Given the description of an element on the screen output the (x, y) to click on. 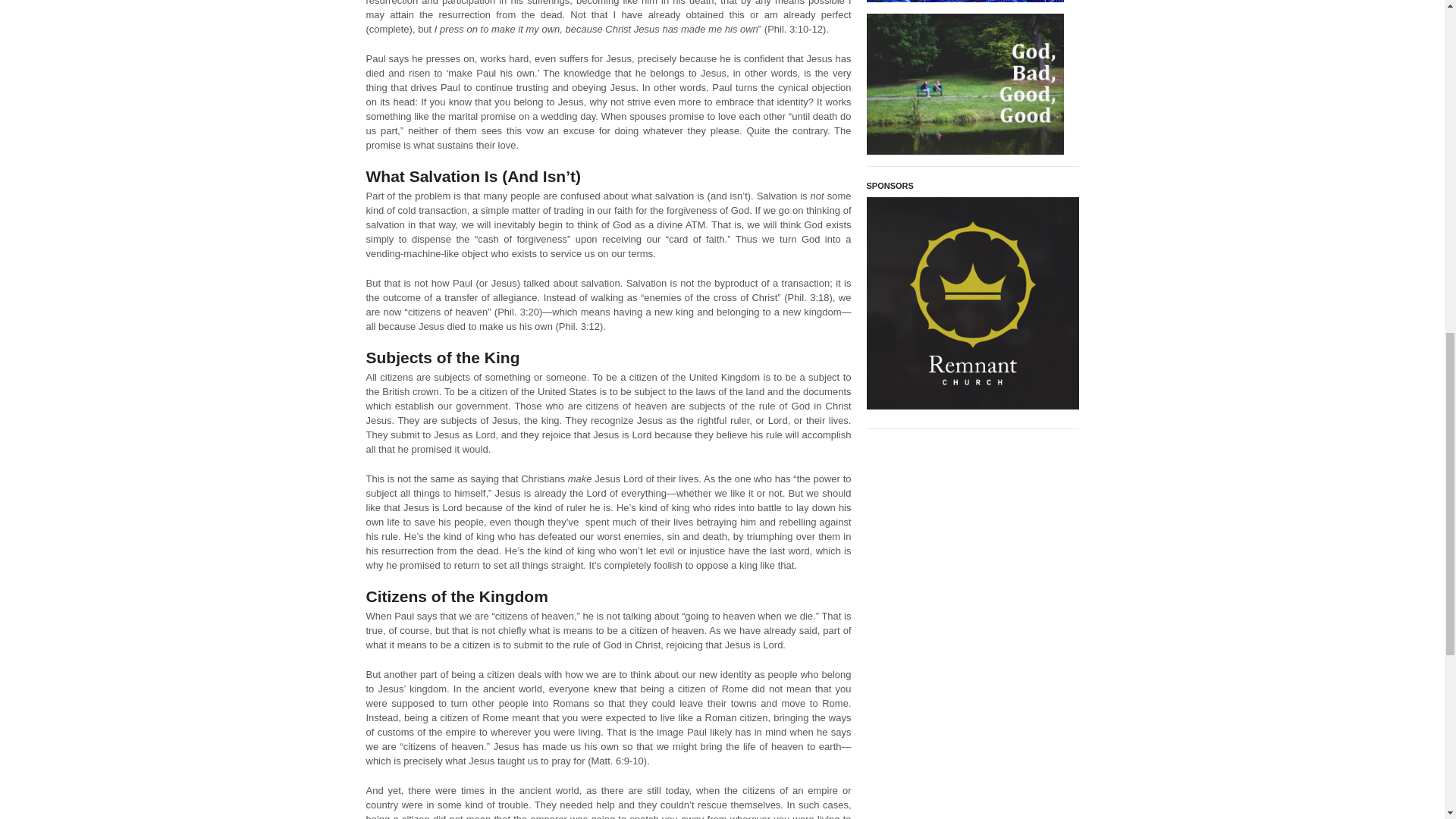
TV: TRIVIAL VEGGING (964, 3)
GOOD, BAD, GOOD, GOOD (964, 85)
Remnant Church - Richmond, Virginia (972, 303)
